Given the description of an element on the screen output the (x, y) to click on. 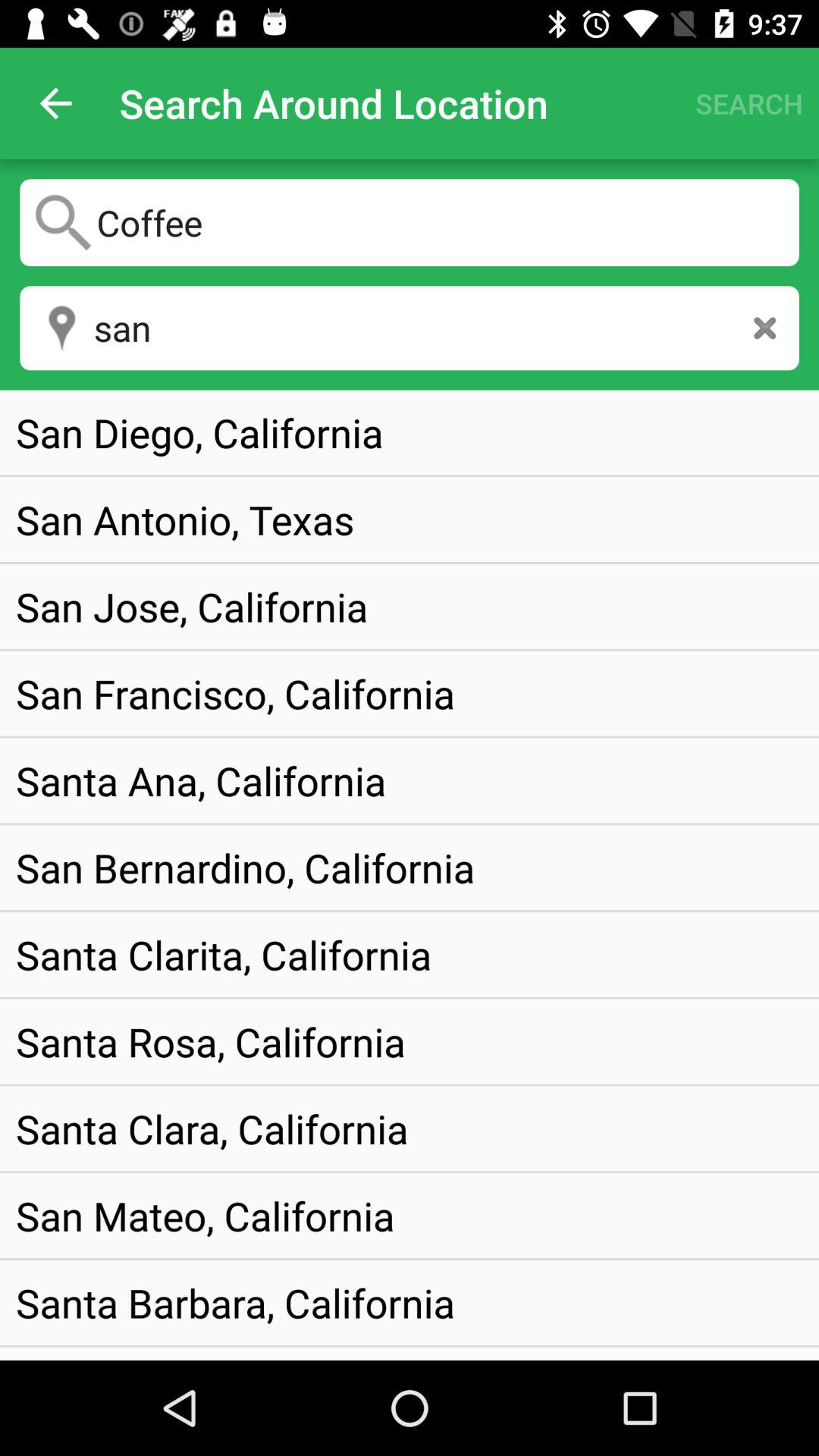
turn off icon below santa ana, california item (245, 867)
